Given the description of an element on the screen output the (x, y) to click on. 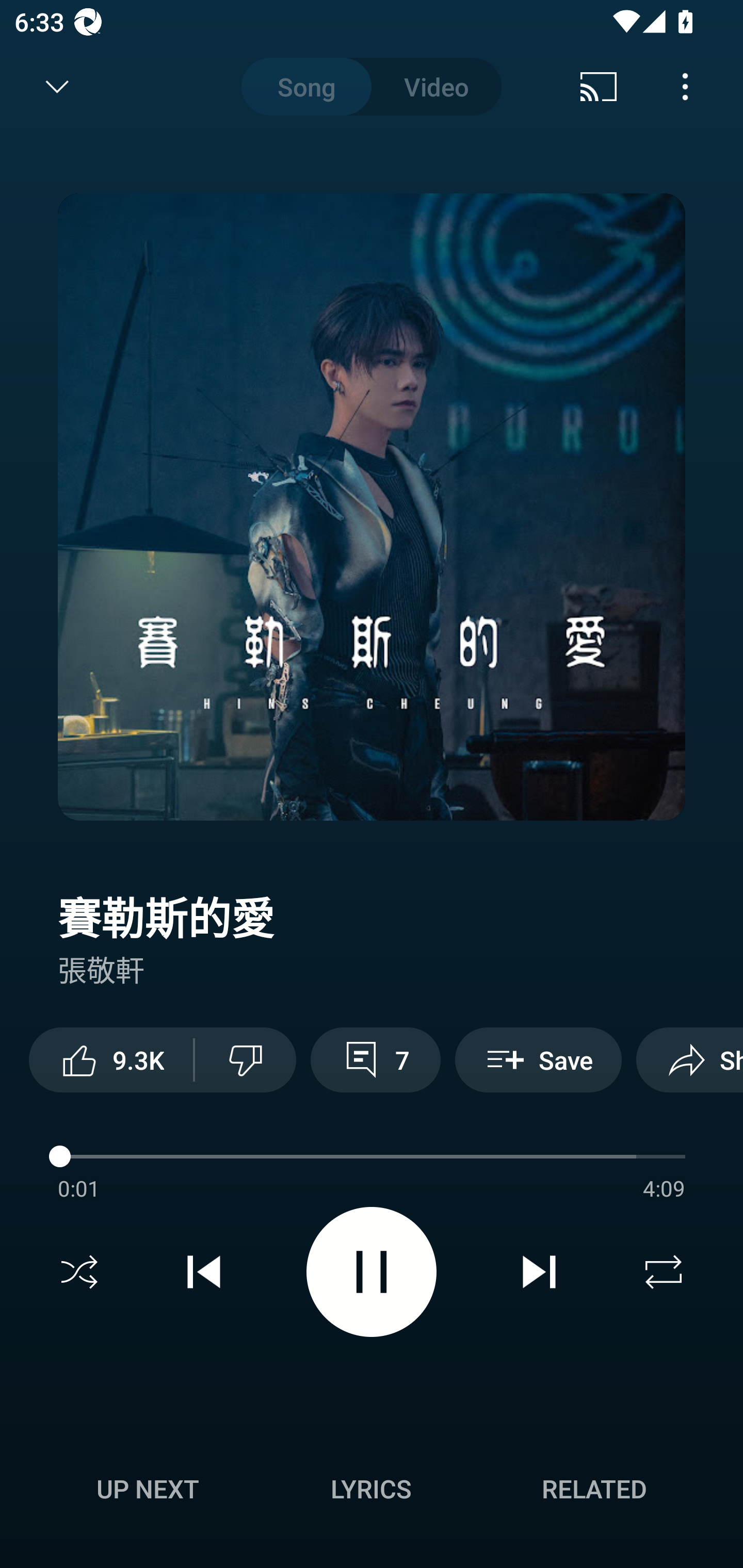
Minimize (57, 86)
Cast. Disconnected (598, 86)
Menu (684, 86)
9.3K like this video along with 9,346 other people (110, 1059)
Dislike (245, 1059)
7 View 7 comments (375, 1059)
Save Save to playlist (537, 1059)
Share (689, 1059)
Pause video (371, 1272)
Shuffle off (79, 1272)
Previous track (203, 1272)
Next track (538, 1272)
Repeat off (663, 1272)
Up next UP NEXT Lyrics LYRICS Related RELATED (371, 1491)
Lyrics LYRICS (370, 1488)
Related RELATED (594, 1488)
